Given the description of an element on the screen output the (x, y) to click on. 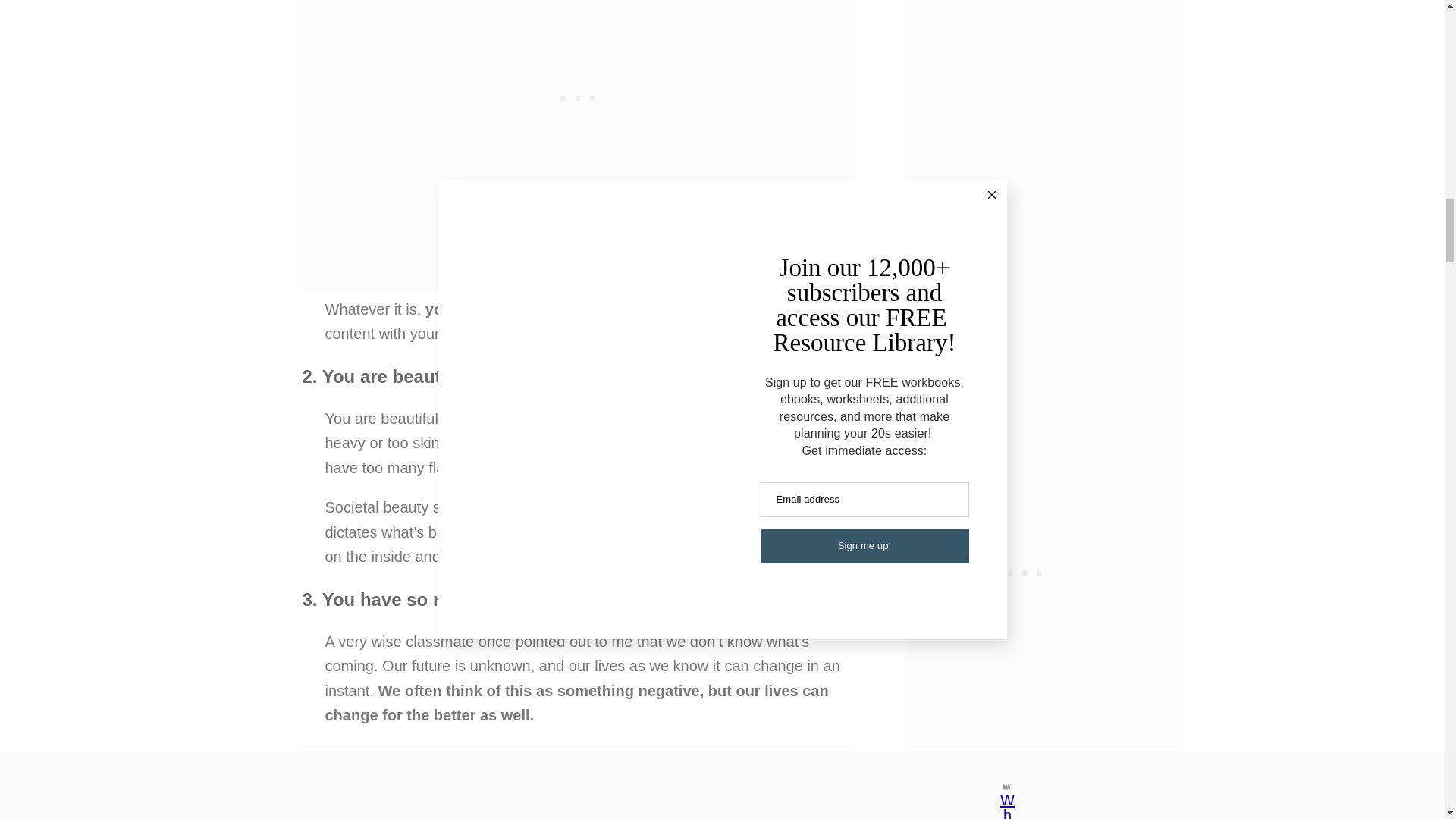
3rd party ad content (577, 72)
3rd party ad content (577, 780)
